Given the description of an element on the screen output the (x, y) to click on. 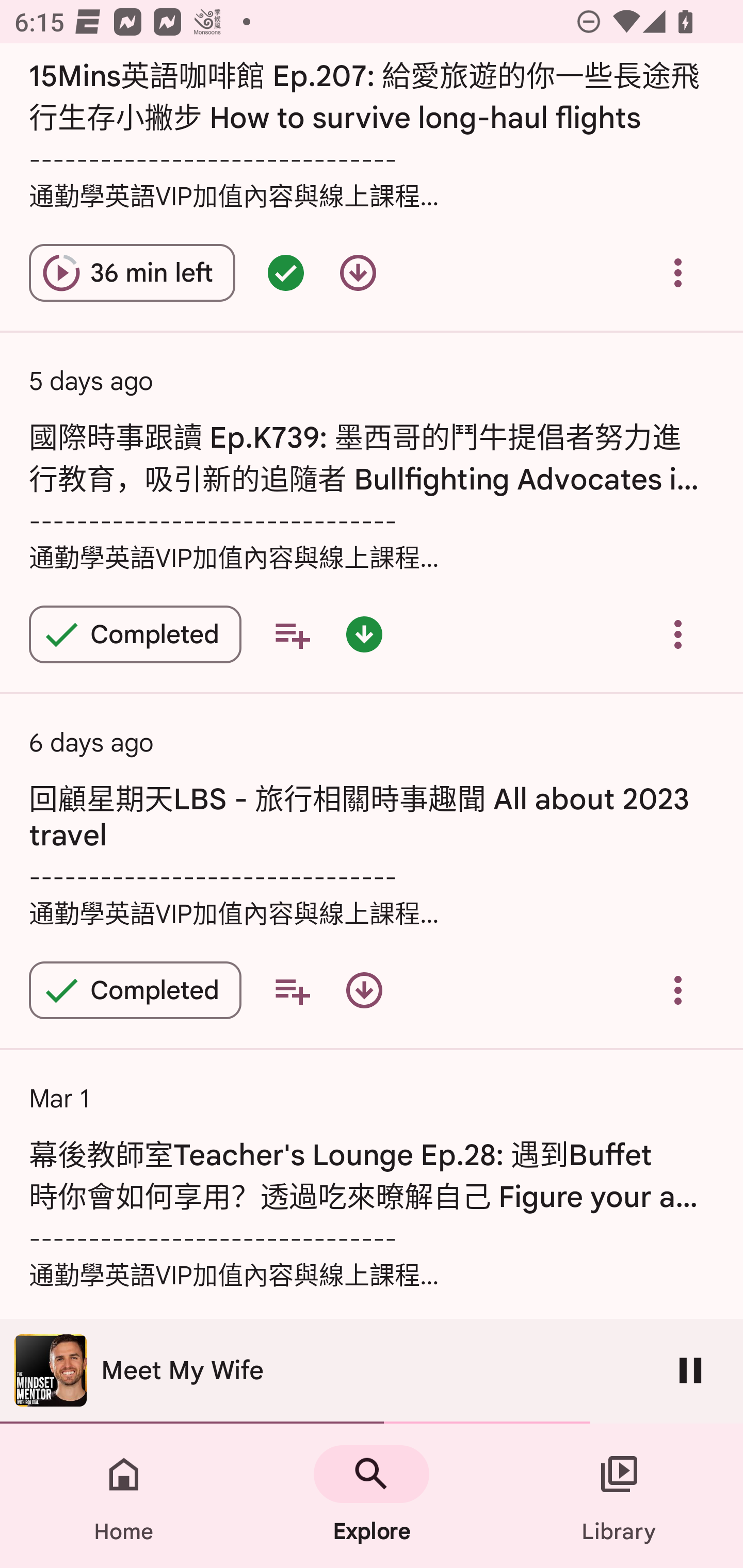
Episode queued - double tap for options (285, 272)
Download episode (357, 272)
Overflow menu (677, 272)
Add to your queue (291, 634)
Episode downloaded - double tap for options (364, 634)
Overflow menu (677, 634)
Add to your queue (291, 990)
Download episode (364, 990)
Overflow menu (677, 990)
The Mindset Mentor Meet My Wife Pause 5165.0 (371, 1370)
Pause (690, 1370)
Home (123, 1495)
Library (619, 1495)
